Given the description of an element on the screen output the (x, y) to click on. 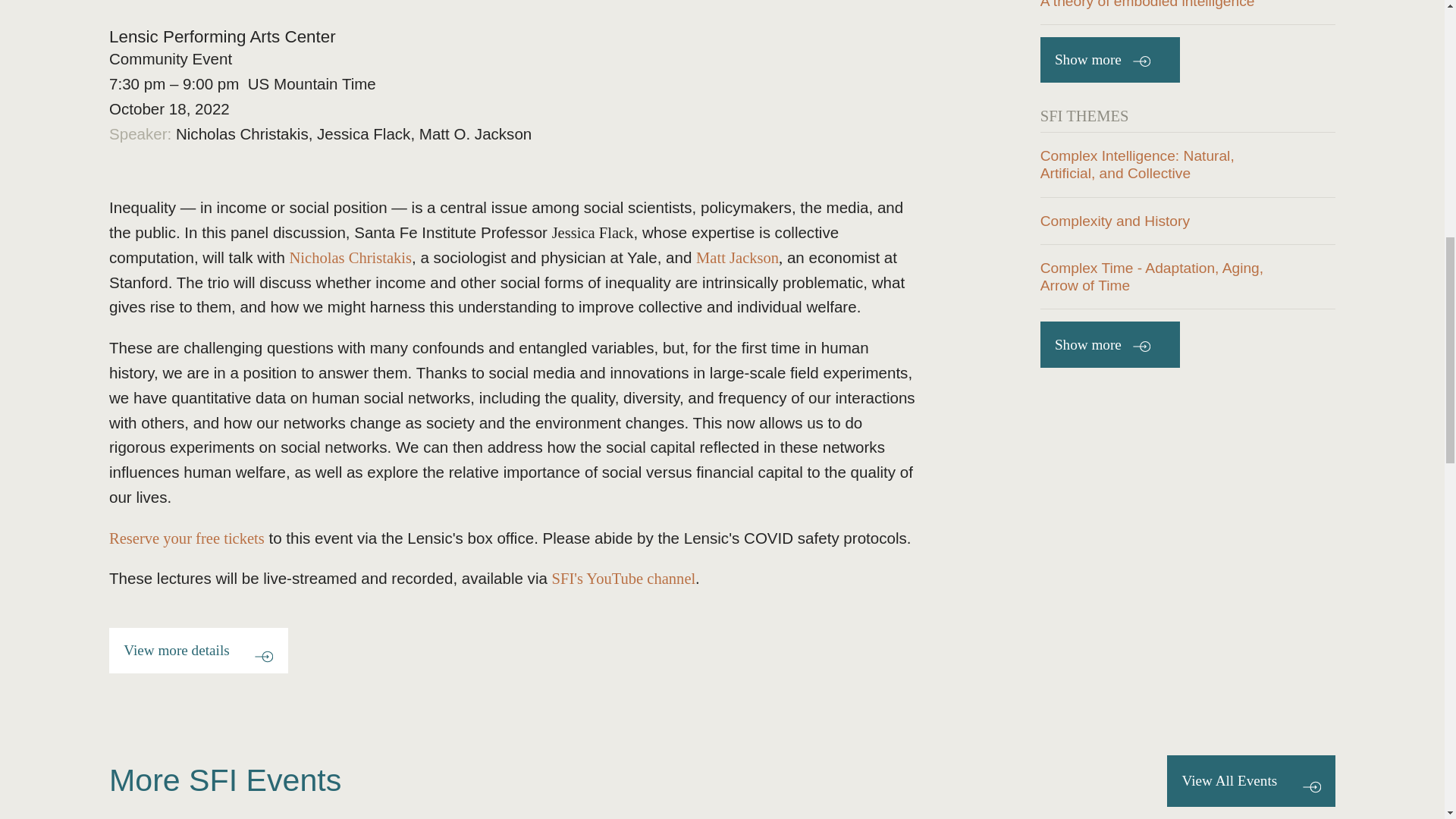
Complexity and History (1188, 221)
Complex Time - Adaptation, Aging, Arrow of Time (1188, 276)
A theory of embodied intelligence (1188, 12)
Complex Intelligence: Natural, Artificial, and Collective (1188, 164)
